Given the description of an element on the screen output the (x, y) to click on. 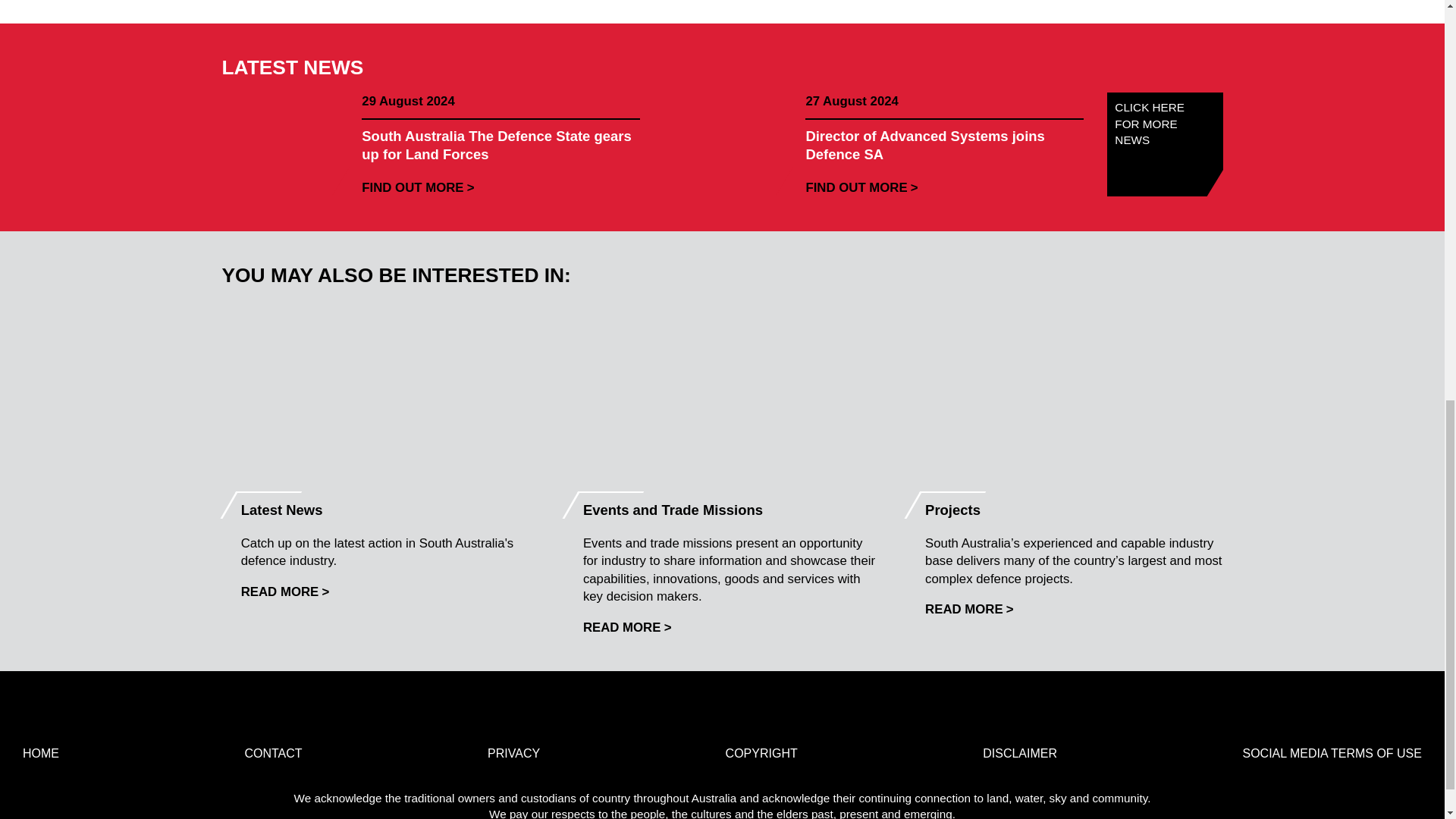
View: Projects (968, 608)
View: Latest News (285, 591)
View: Events and Trade Missions (627, 626)
